Given the description of an element on the screen output the (x, y) to click on. 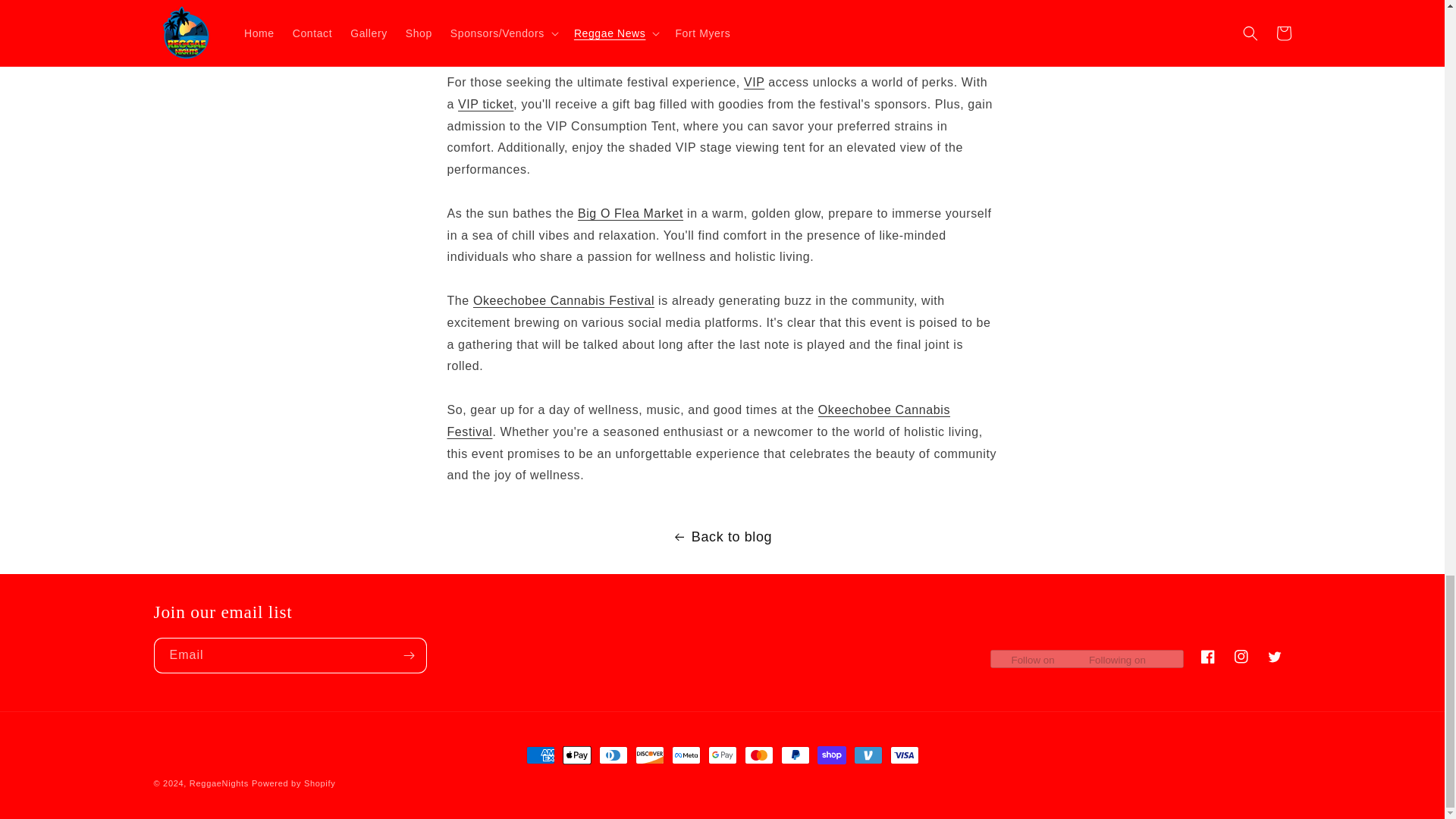
Eventbrite Page (698, 420)
Big O Flea Market Facebook Page (630, 213)
Stay Lifted Events VIP Ticket Purchase (754, 82)
Eventbrite Page (485, 103)
Eventbrite Page (563, 300)
